Given the description of an element on the screen output the (x, y) to click on. 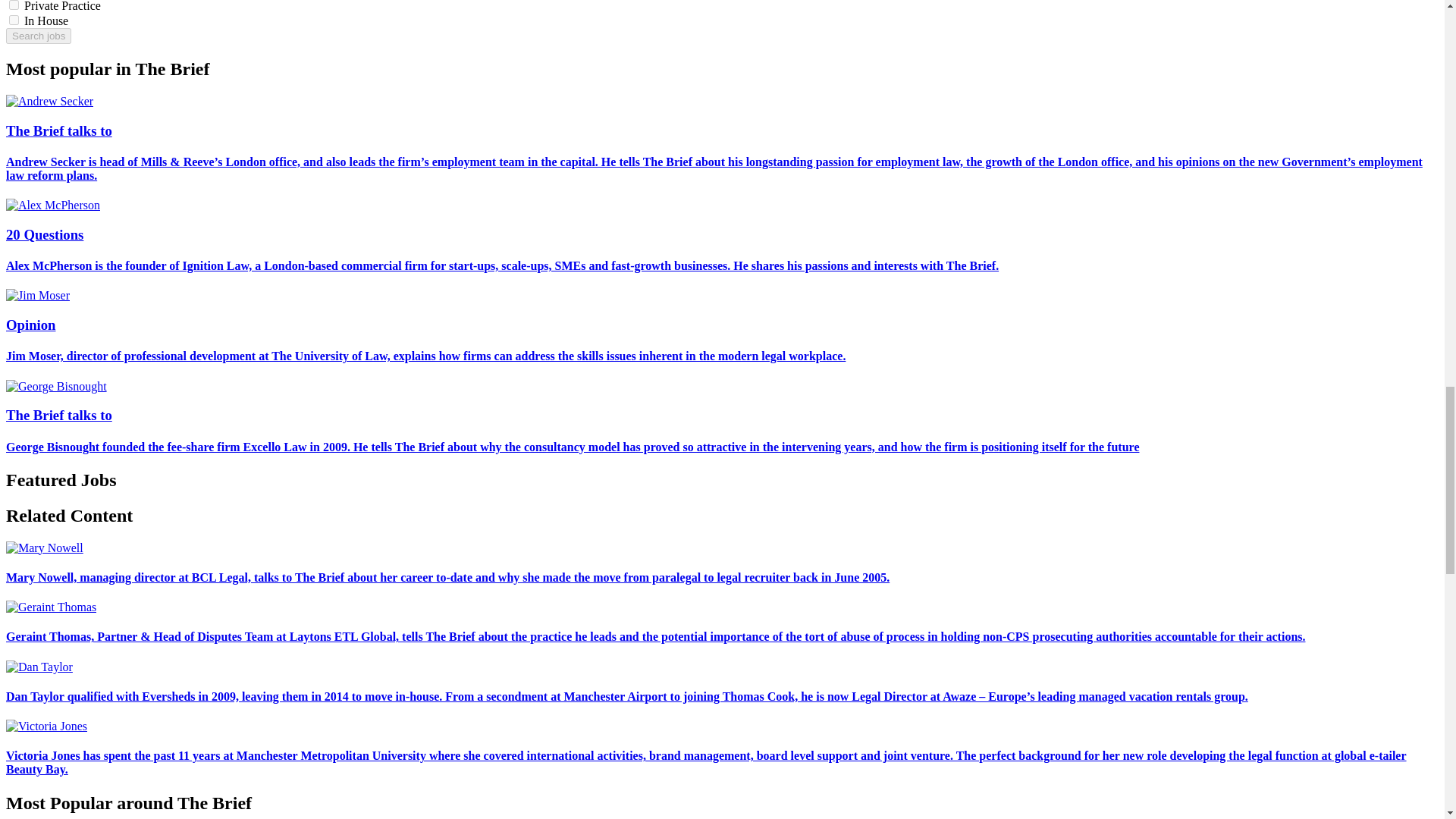
In House (13, 20)
Private Practice (13, 4)
